Given the description of an element on the screen output the (x, y) to click on. 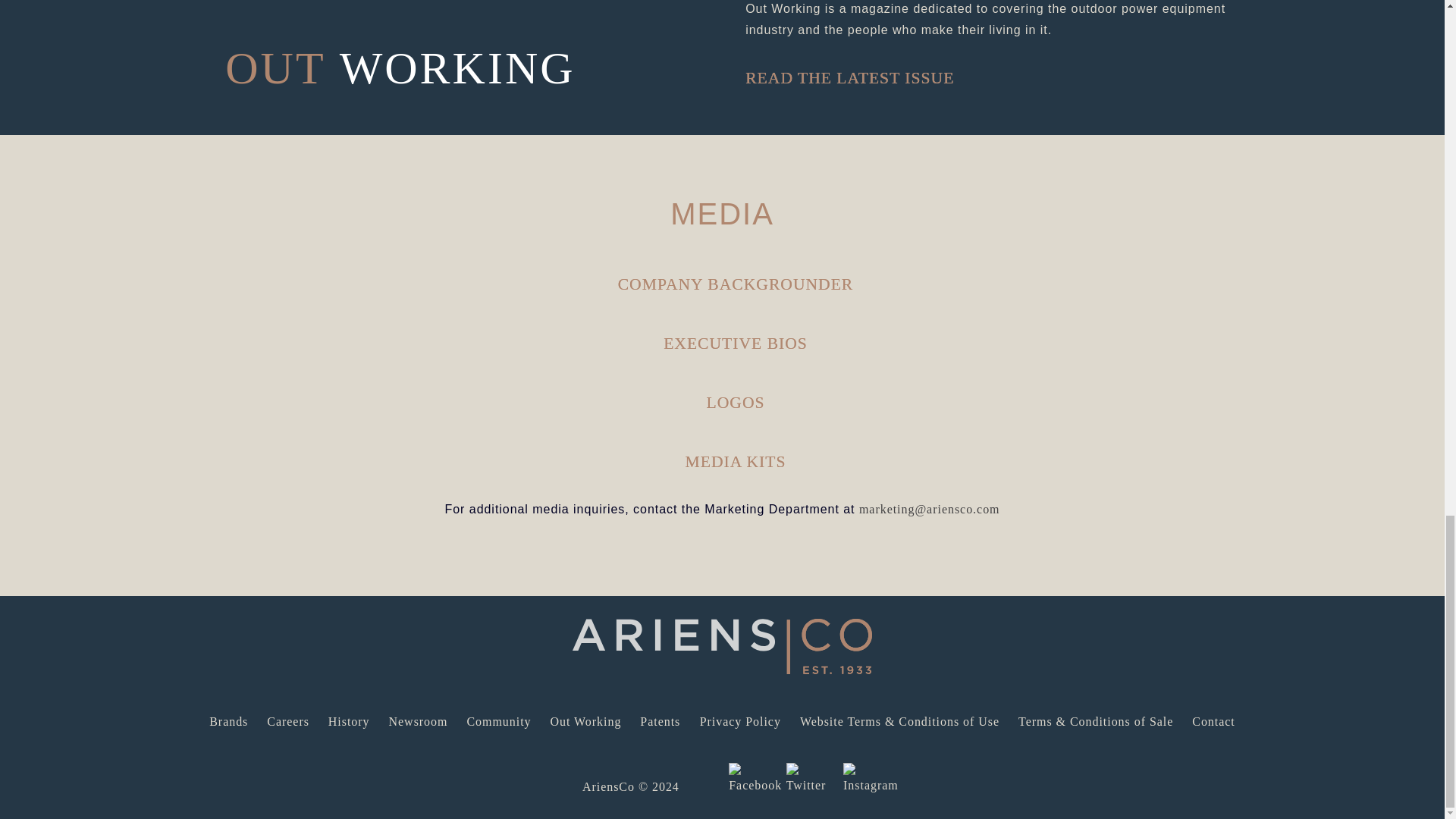
COMPANY BACKGROUNDER (735, 284)
EXECUTIVE BIOS (735, 343)
Contact (1213, 721)
Brands (228, 721)
Out Working (585, 721)
Careers (287, 721)
Community (498, 721)
Patents (659, 721)
Newsroom (418, 721)
LOGOS (735, 402)
